Given the description of an element on the screen output the (x, y) to click on. 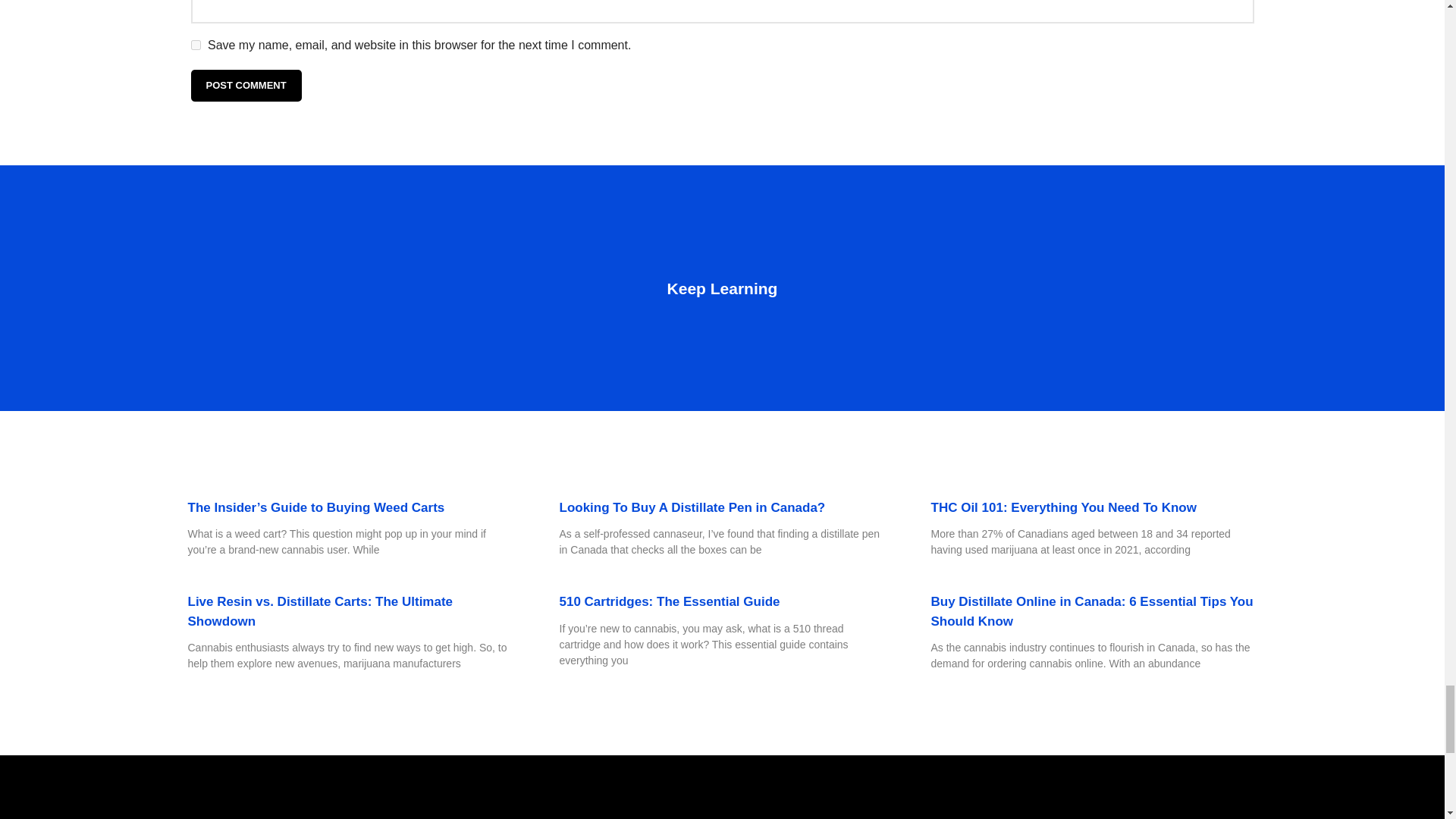
yes (195, 44)
Post Comment (245, 85)
